Given the description of an element on the screen output the (x, y) to click on. 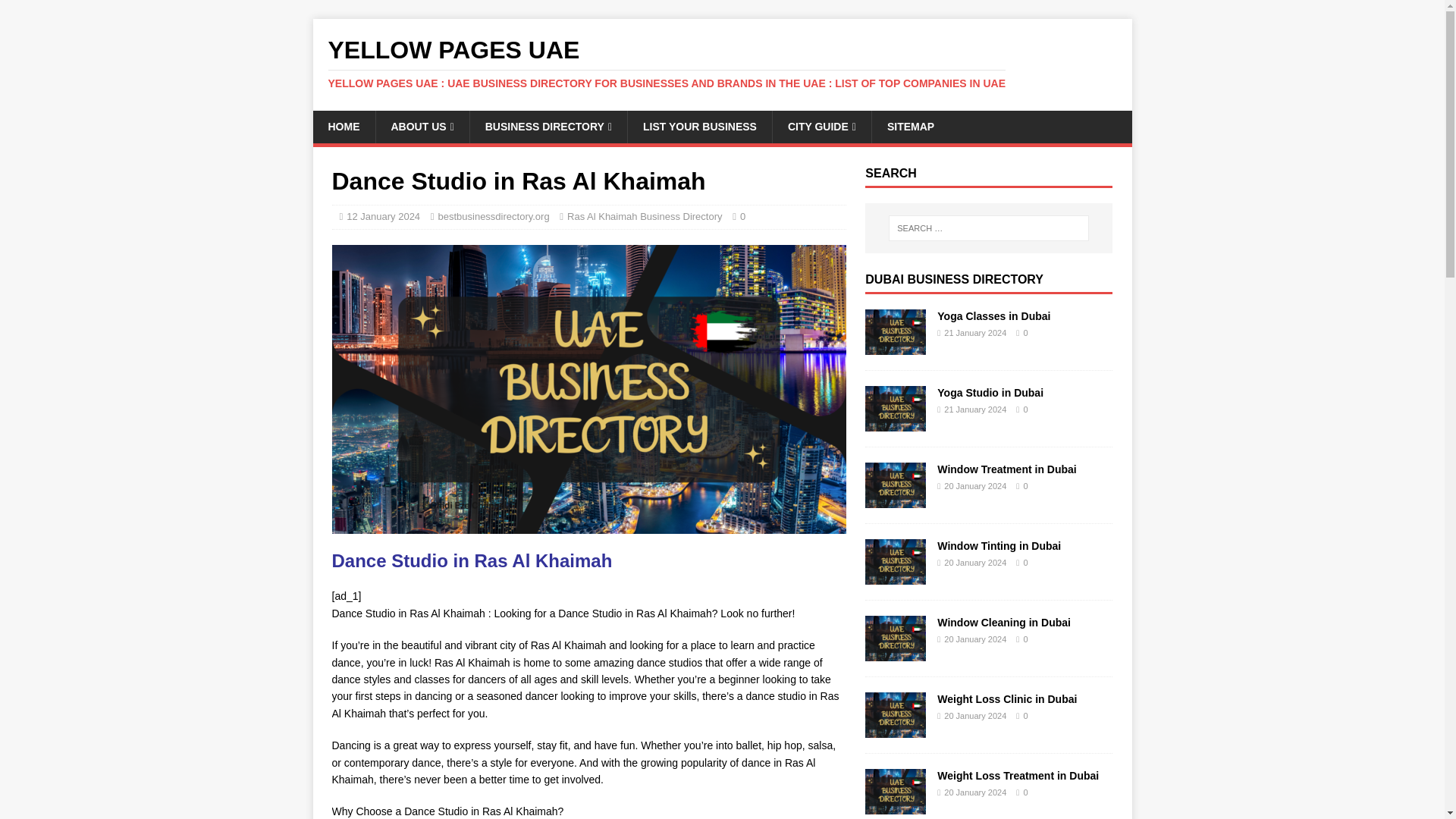
Window Cleaning in Dubai (895, 653)
Window Tinting in Dubai (895, 576)
Yoga Classes in Dubai (993, 316)
Window Treatment in Dubai (1006, 469)
ABOUT US (421, 126)
Yellow Pages UAE (721, 63)
Weight Loss Clinic in Dubai (895, 729)
Weight Loss Clinic in Dubai (1007, 698)
